Given the description of an element on the screen output the (x, y) to click on. 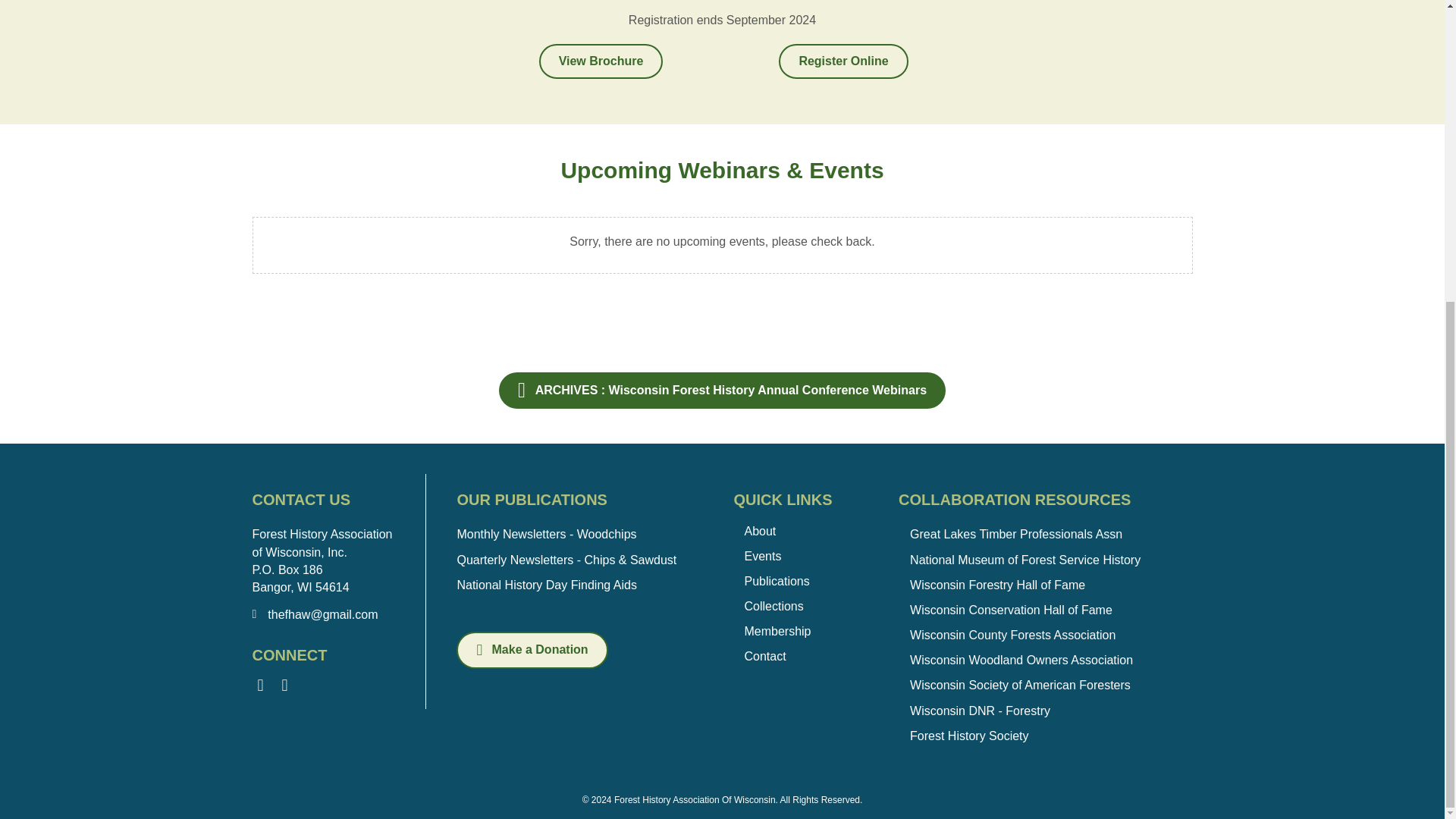
YouTube (284, 685)
View Brochure (600, 61)
Membership (800, 630)
Wisconsin Woodland Owners Association (1021, 659)
Great Lakes Timber Professionals Assn (1016, 533)
Wisconsin Forestry Hall of Fame (997, 584)
About (800, 529)
Contact (800, 654)
Register Online (842, 61)
Publications (800, 580)
Monthly Newsletters - Woodchips (546, 533)
Facebook (259, 685)
Forest History Society (968, 735)
Wisconsin DNR - Forestry (979, 710)
National Museum of Forest Service History (1025, 559)
